Given the description of an element on the screen output the (x, y) to click on. 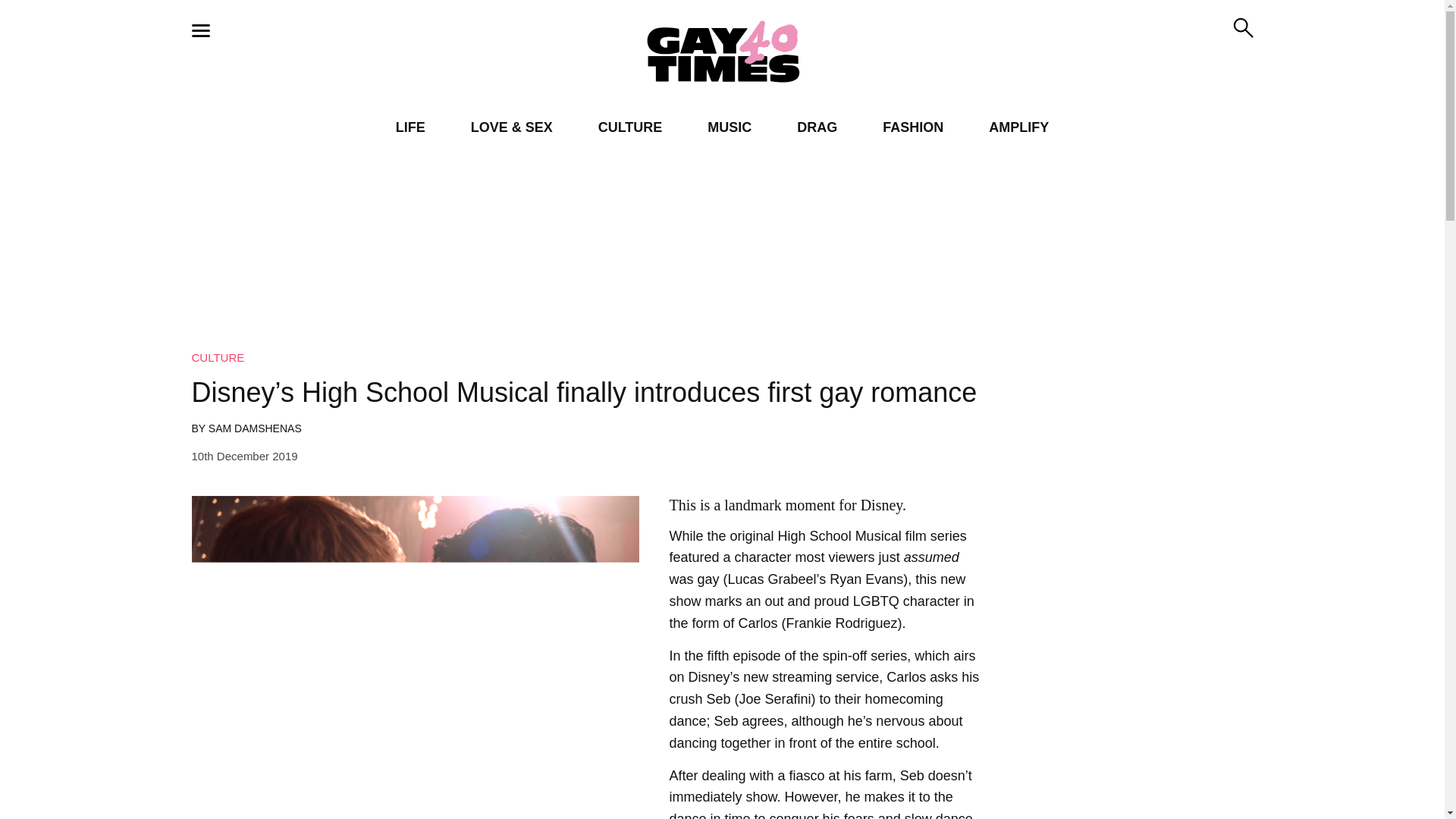
MUSIC (729, 127)
DRAG (816, 127)
FASHION (912, 127)
SAM DAMSHENAS (254, 428)
CULTURE (217, 357)
CULTURE (630, 127)
LIFE (410, 127)
AMPLIFY (1018, 127)
